Given the description of an element on the screen output the (x, y) to click on. 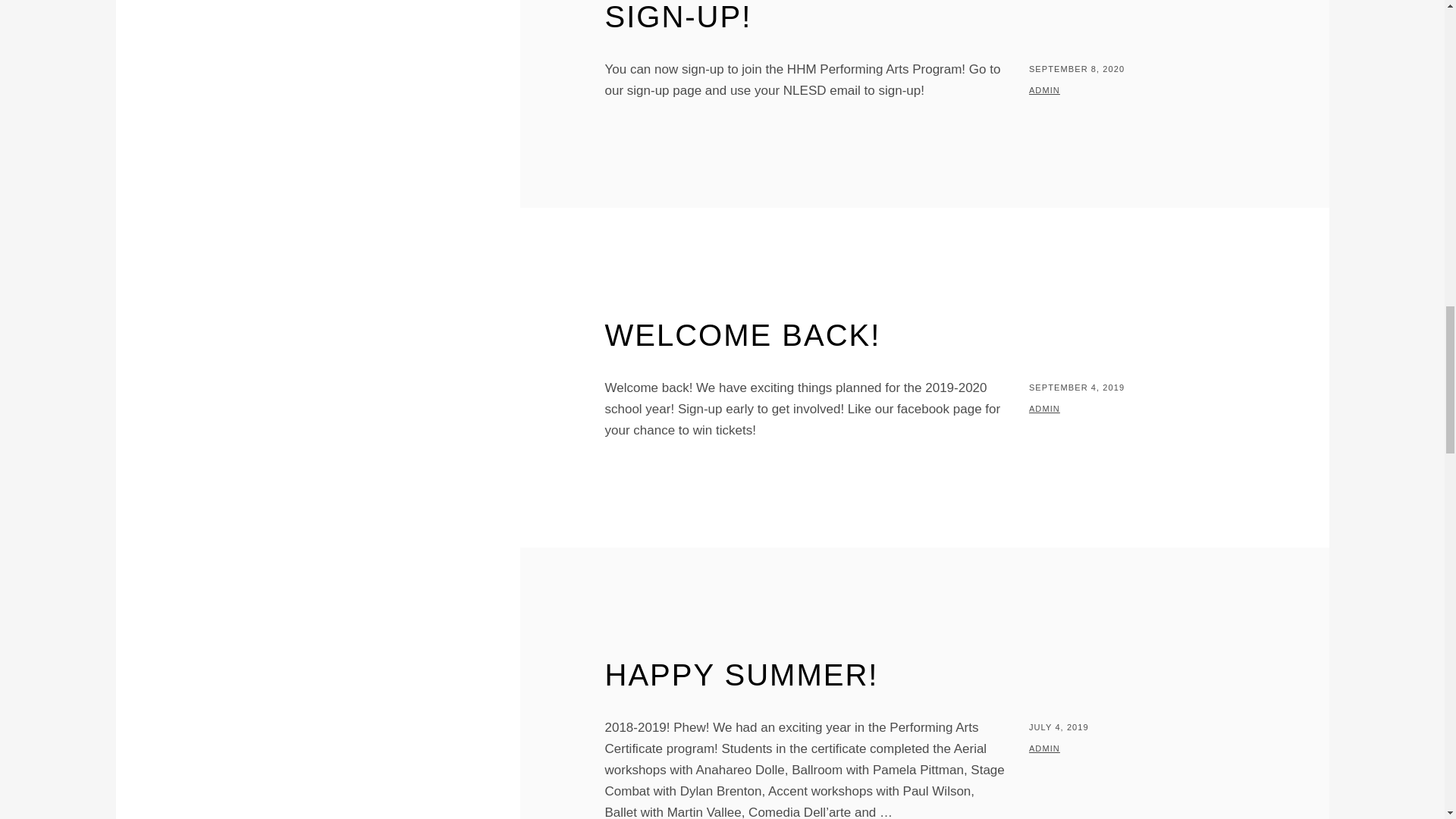
ADMIN (1044, 90)
SIGN-UP! (678, 16)
ADMIN (1044, 408)
WELCOME BACK! (742, 335)
ADMIN (1044, 747)
HAPPY SUMMER! (742, 674)
